Given the description of an element on the screen output the (x, y) to click on. 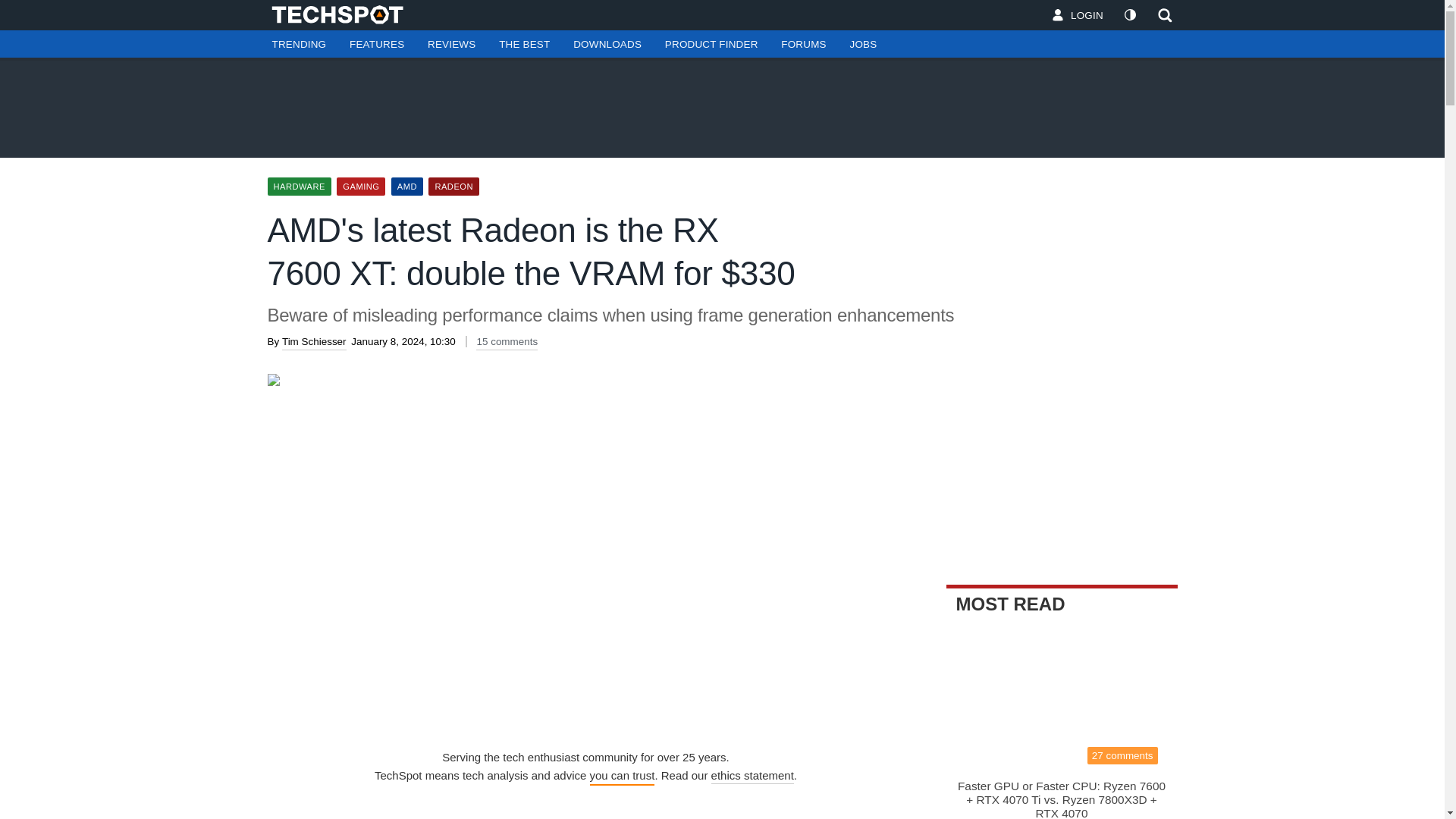
SearchA search icon (1164, 15)
REVIEWS (450, 44)
SearchA search icon (1160, 15)
PRODUCT FINDER (711, 44)
TechSpot logoThe word TechSpot (344, 14)
THE BEST (524, 44)
2024-01-08 10:30:00 (402, 341)
LOGIN (1077, 15)
FORUMS (803, 44)
TechSpot logoThe word TechSpot (344, 14)
